Given the description of an element on the screen output the (x, y) to click on. 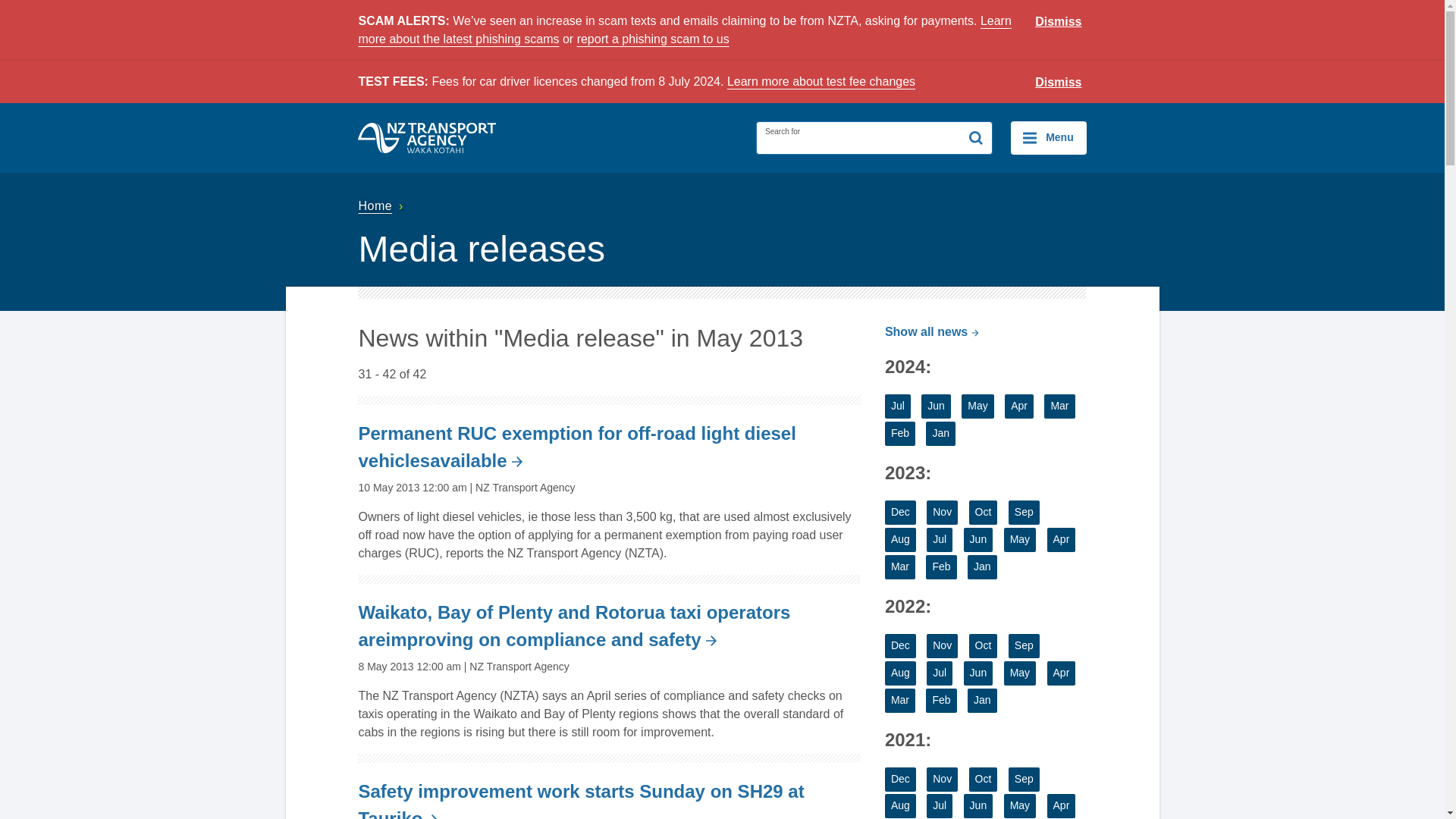
Dismiss (1058, 82)
Dismiss (1058, 21)
Menu (1048, 137)
report a phishing scam to us (652, 38)
Learn more about the latest phishing scams (684, 29)
Home (382, 205)
NZ Transport Agency Waka Kotahi (427, 137)
Learn more about test fee changes (820, 81)
